Given the description of an element on the screen output the (x, y) to click on. 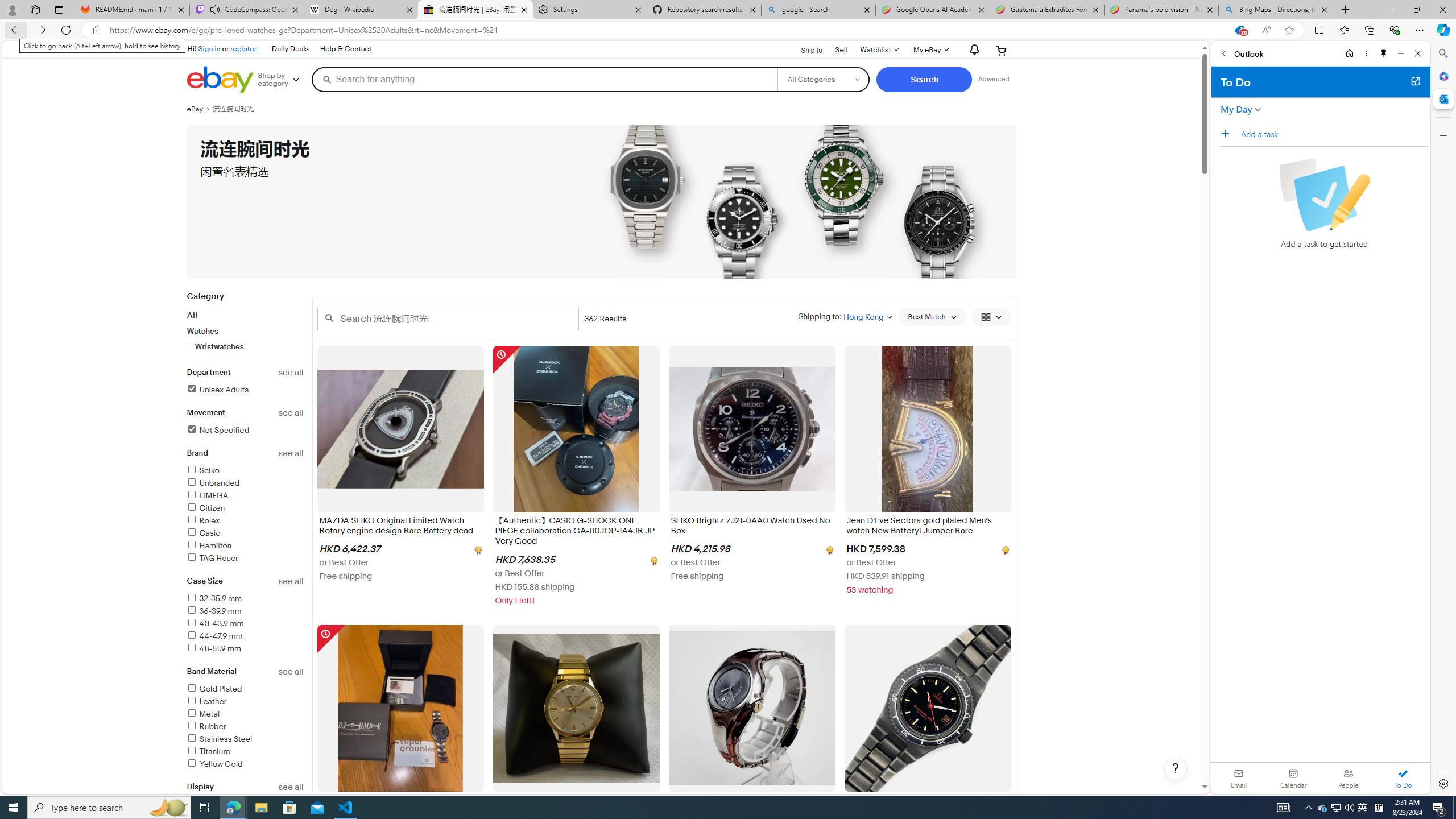
register (243, 48)
Add a task (1228, 133)
Unbranded (245, 483)
Add a task (1334, 133)
See all case size refinements (291, 581)
See all department refinements (291, 372)
